Given the description of an element on the screen output the (x, y) to click on. 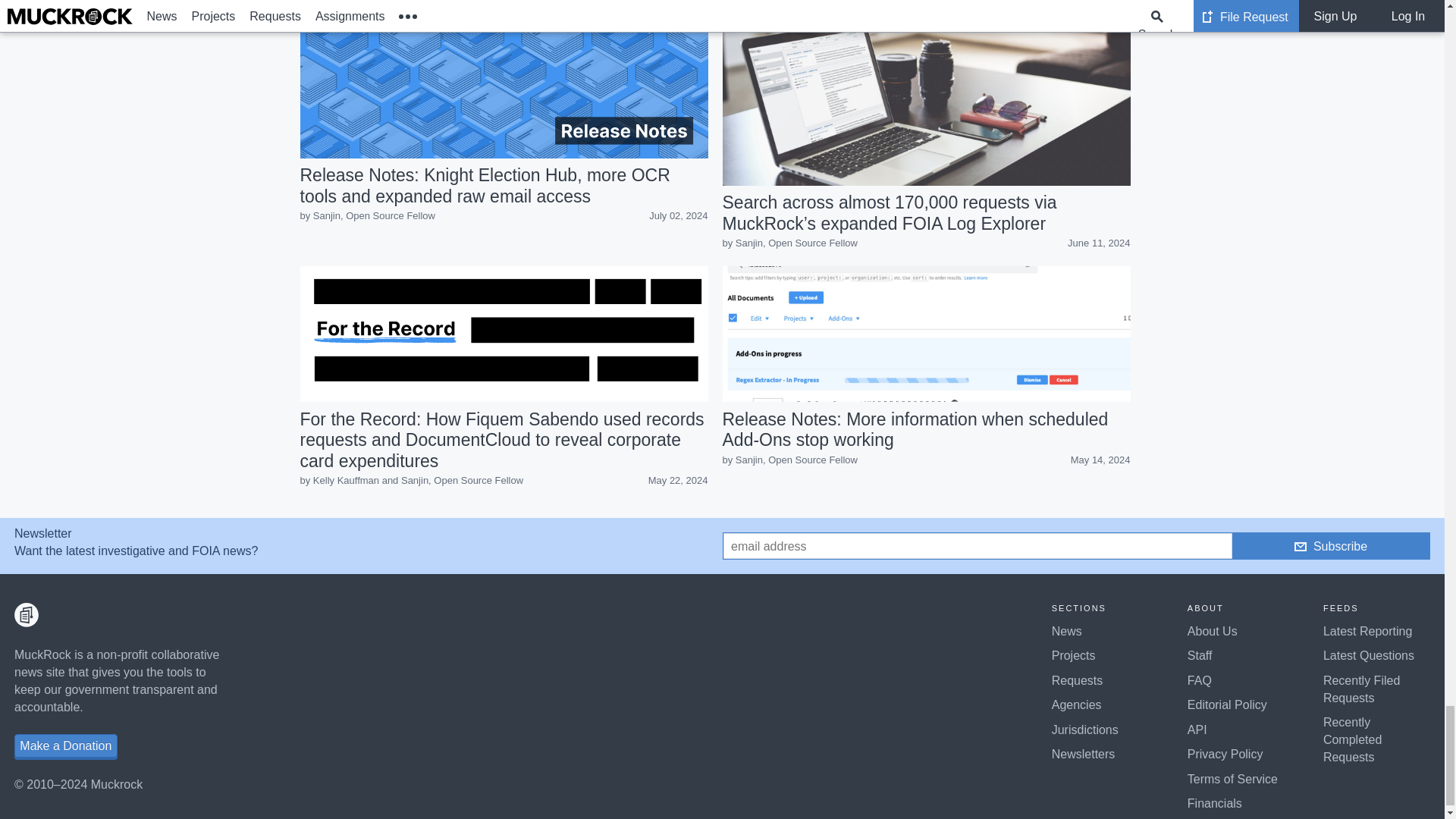
2024-07-02T10:16:27-04:00 (678, 215)
Sanjin, Open Source Fellow (374, 215)
2024-06-11T09:34:55-04:00 (1098, 243)
2024-05-22T06:00:00-04:00 (677, 480)
Sanjin, Open Source Fellow (374, 215)
Sanjin, Open Source Fellow (796, 242)
Kelly Kauffman (345, 480)
Sanjin, Open Source Fellow (461, 480)
Email Icon resembling an envelope. (1300, 546)
